Given the description of an element on the screen output the (x, y) to click on. 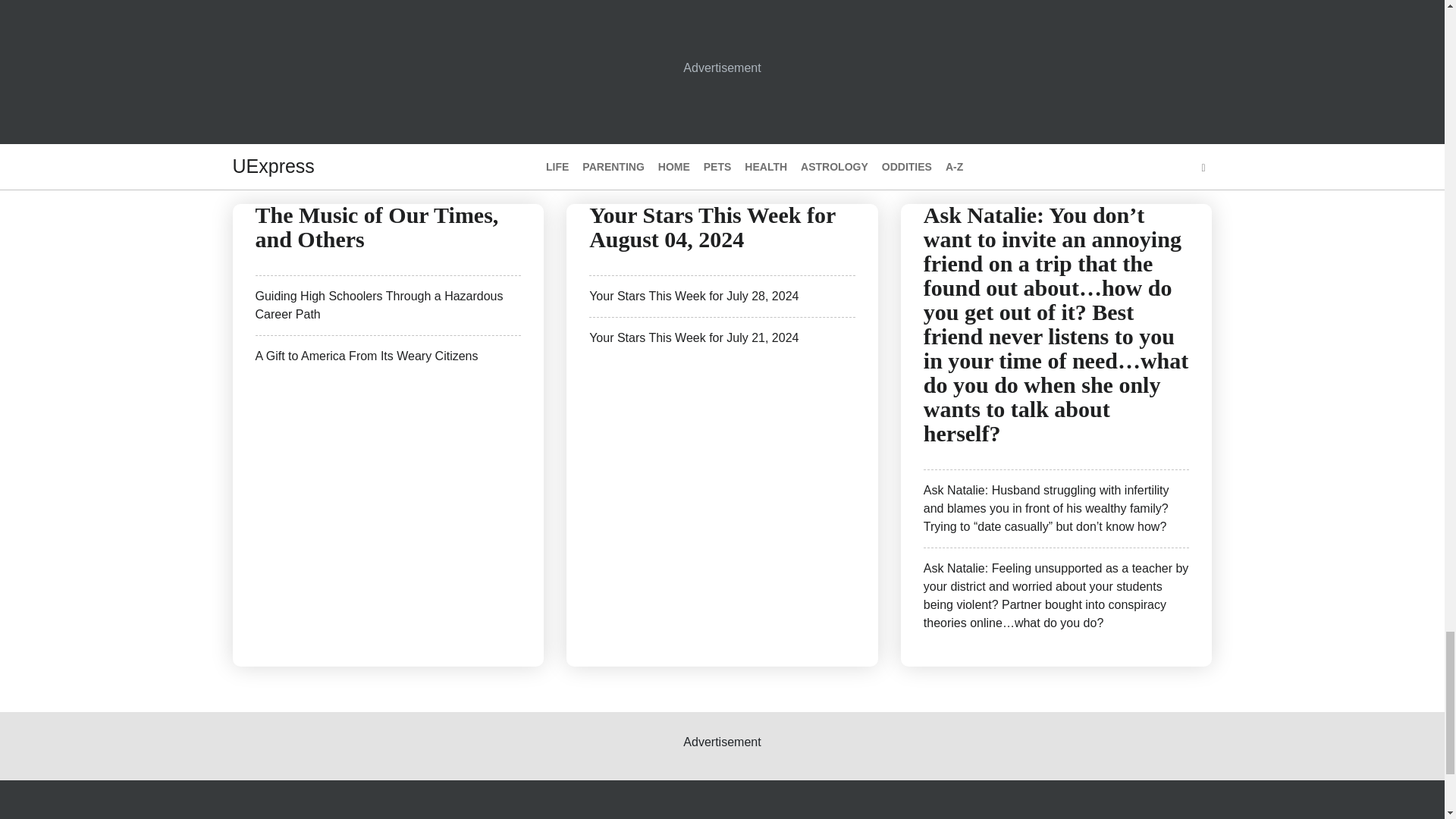
The Music of Our Times, and Others (375, 225)
LOAD MORE ARTICLES (721, 75)
Guiding High Schoolers Through a Hazardous Career Path (378, 305)
A Gift to America From Its Weary Citizens (365, 354)
